Given the description of an element on the screen output the (x, y) to click on. 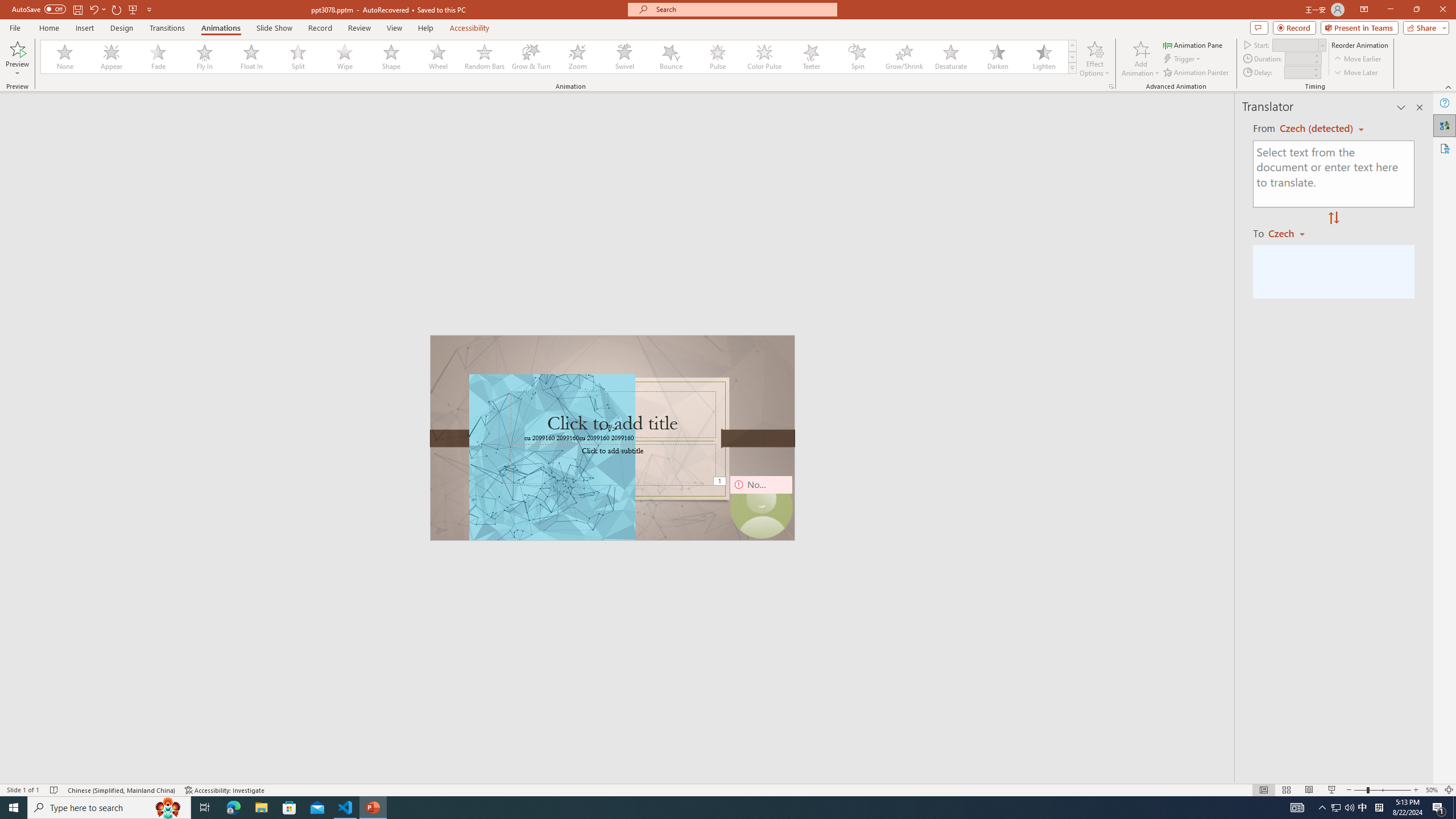
Earth - Wikipedia (23, 448)
Copilot (Ctrl+Shift+.) (1434, 46)
